Given the description of an element on the screen output the (x, y) to click on. 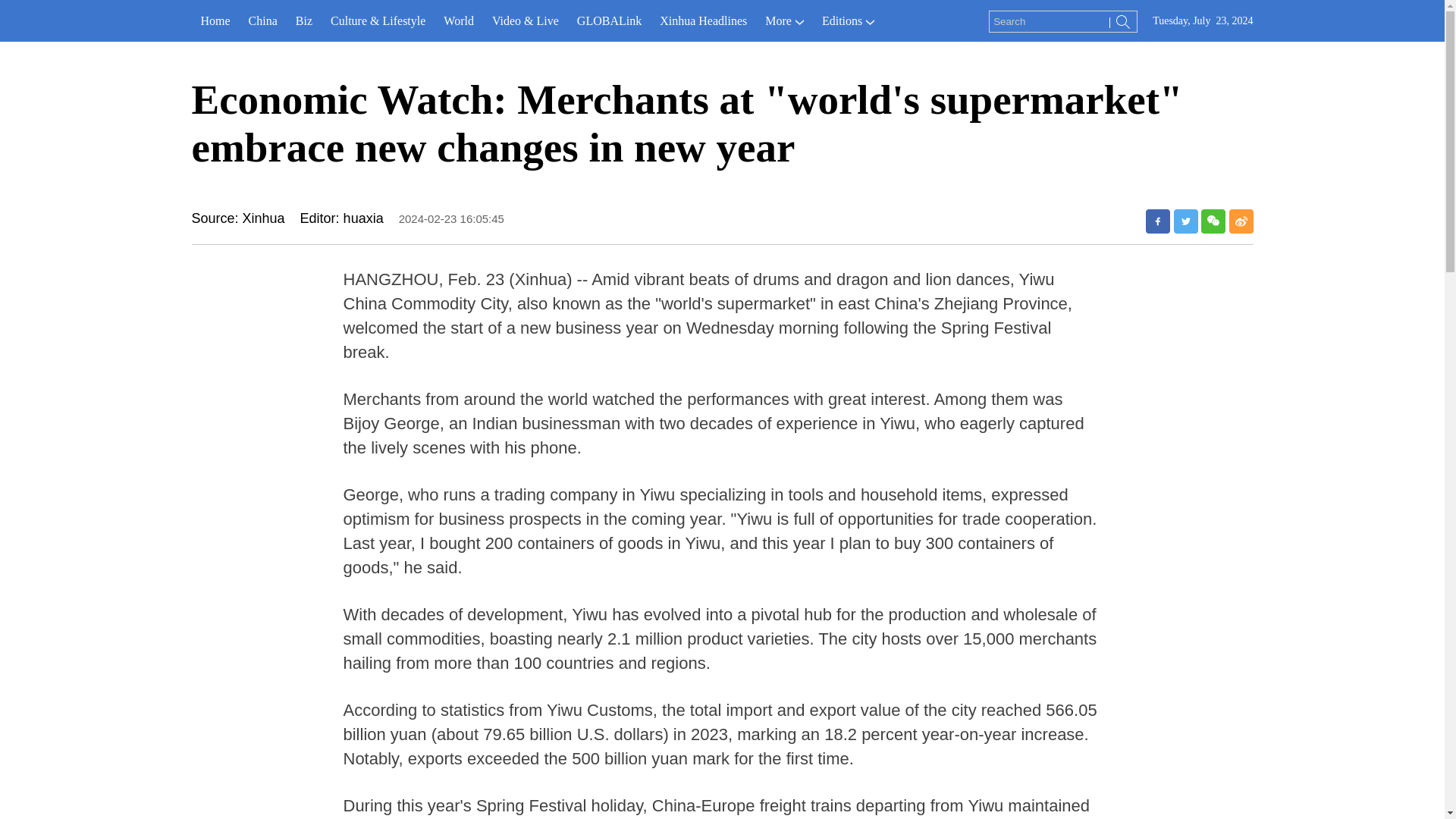
GLOBALink (608, 20)
More (783, 20)
Xinhua Headlines (702, 20)
Home (214, 20)
World (458, 20)
China (263, 20)
Editions (847, 20)
